Given the description of an element on the screen output the (x, y) to click on. 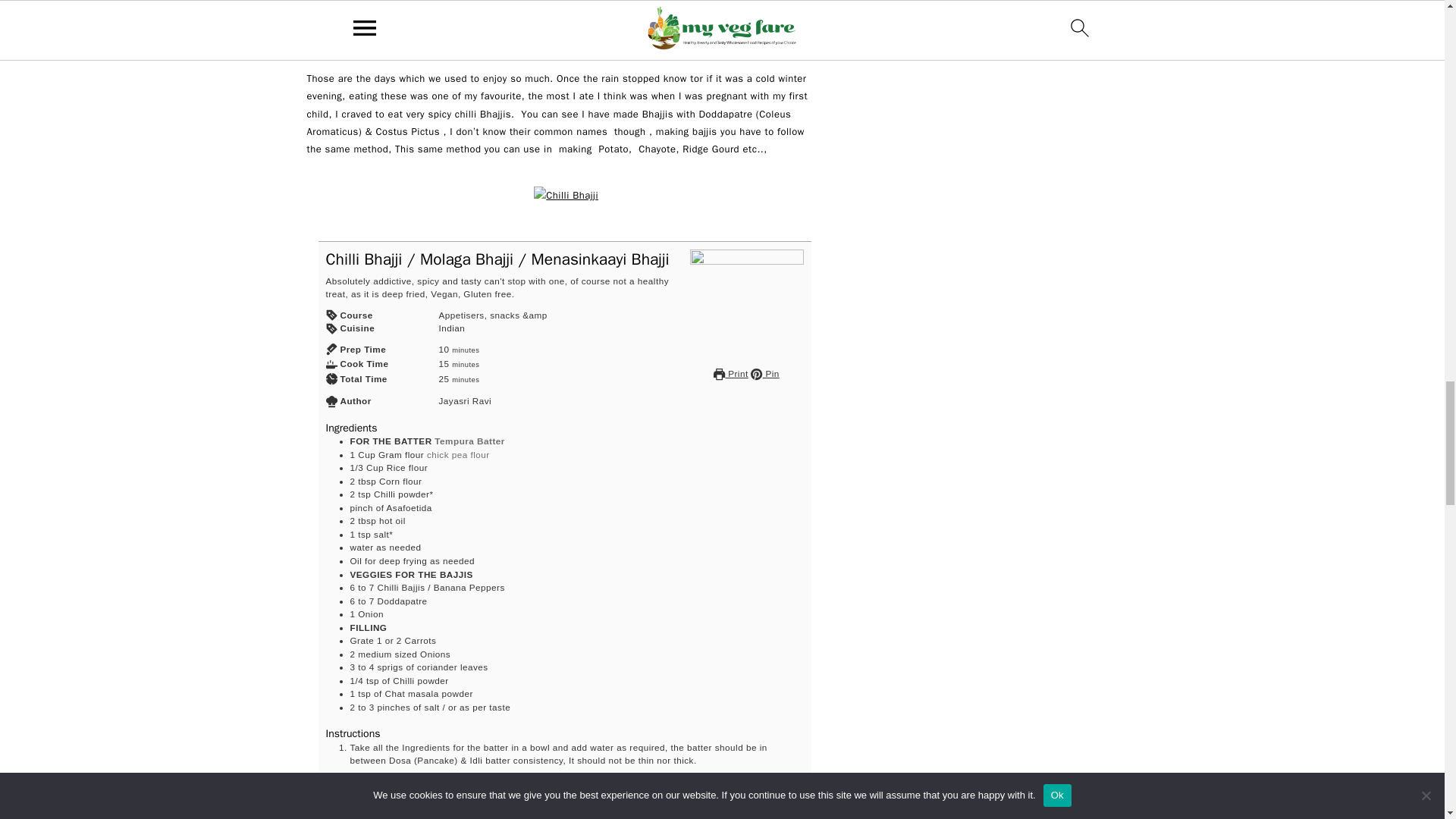
Print (730, 373)
